Given the description of an element on the screen output the (x, y) to click on. 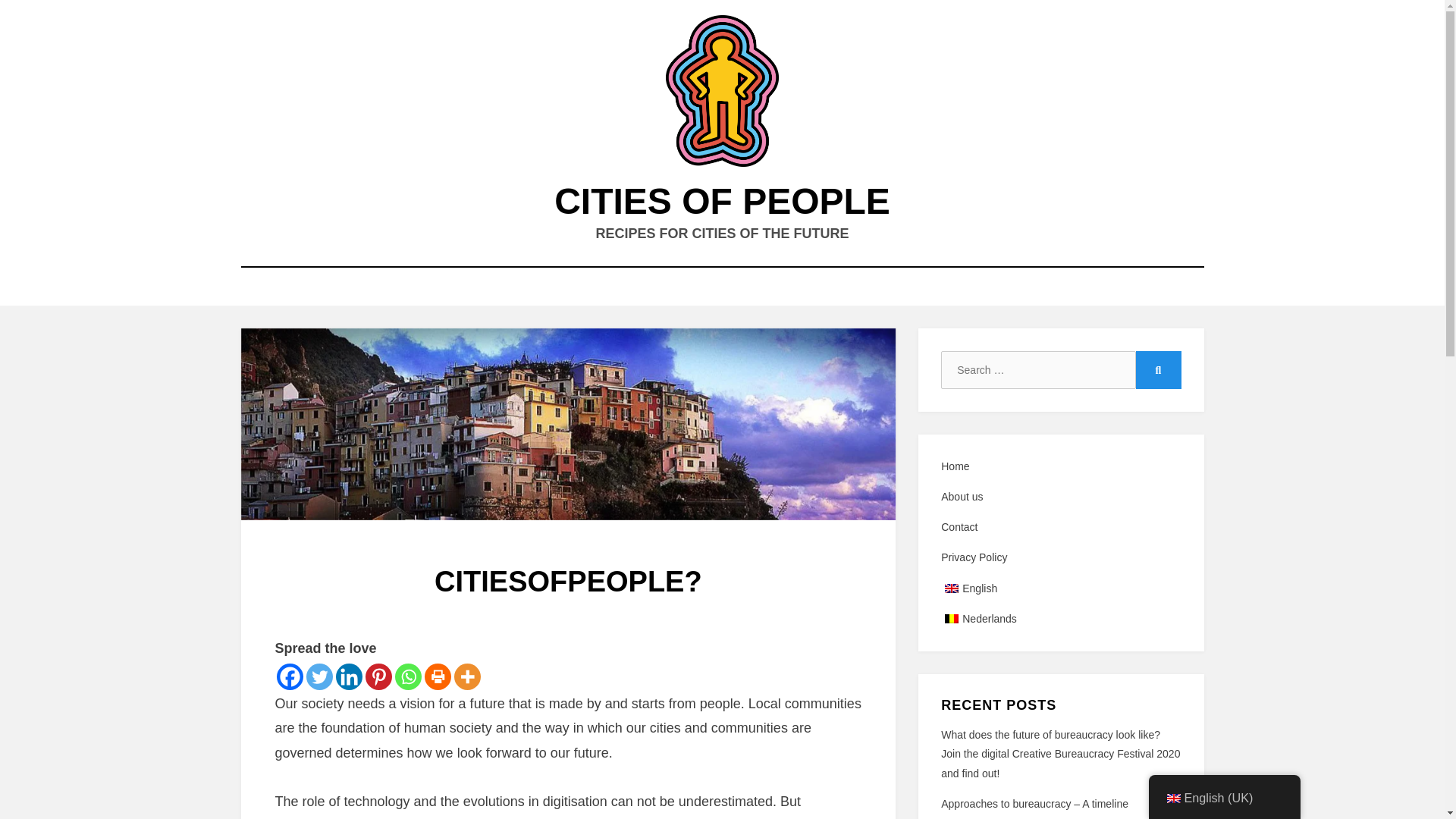
English (1060, 588)
Nederlands (1060, 618)
Home (1060, 466)
Pinterest (378, 676)
Linkedin (347, 676)
Print (438, 676)
More (466, 676)
Contact (1060, 527)
Privacy Policy (1060, 557)
Cities of People (721, 200)
Facebook (289, 676)
Whatsapp (407, 676)
About us (1060, 496)
Search for: (1037, 370)
English (951, 587)
